Given the description of an element on the screen output the (x, y) to click on. 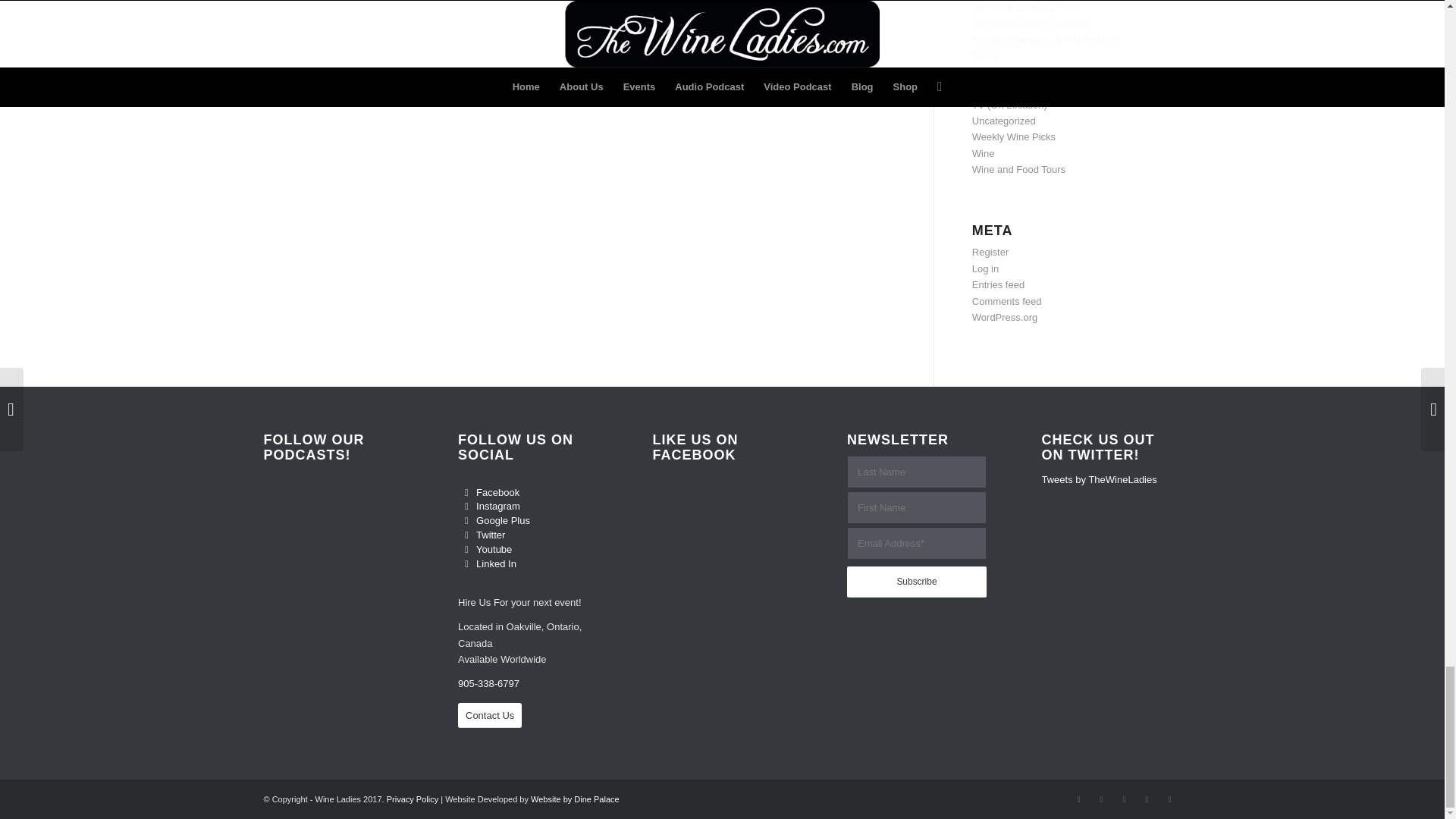
Subscribe (917, 581)
Facebook (467, 493)
